Given the description of an element on the screen output the (x, y) to click on. 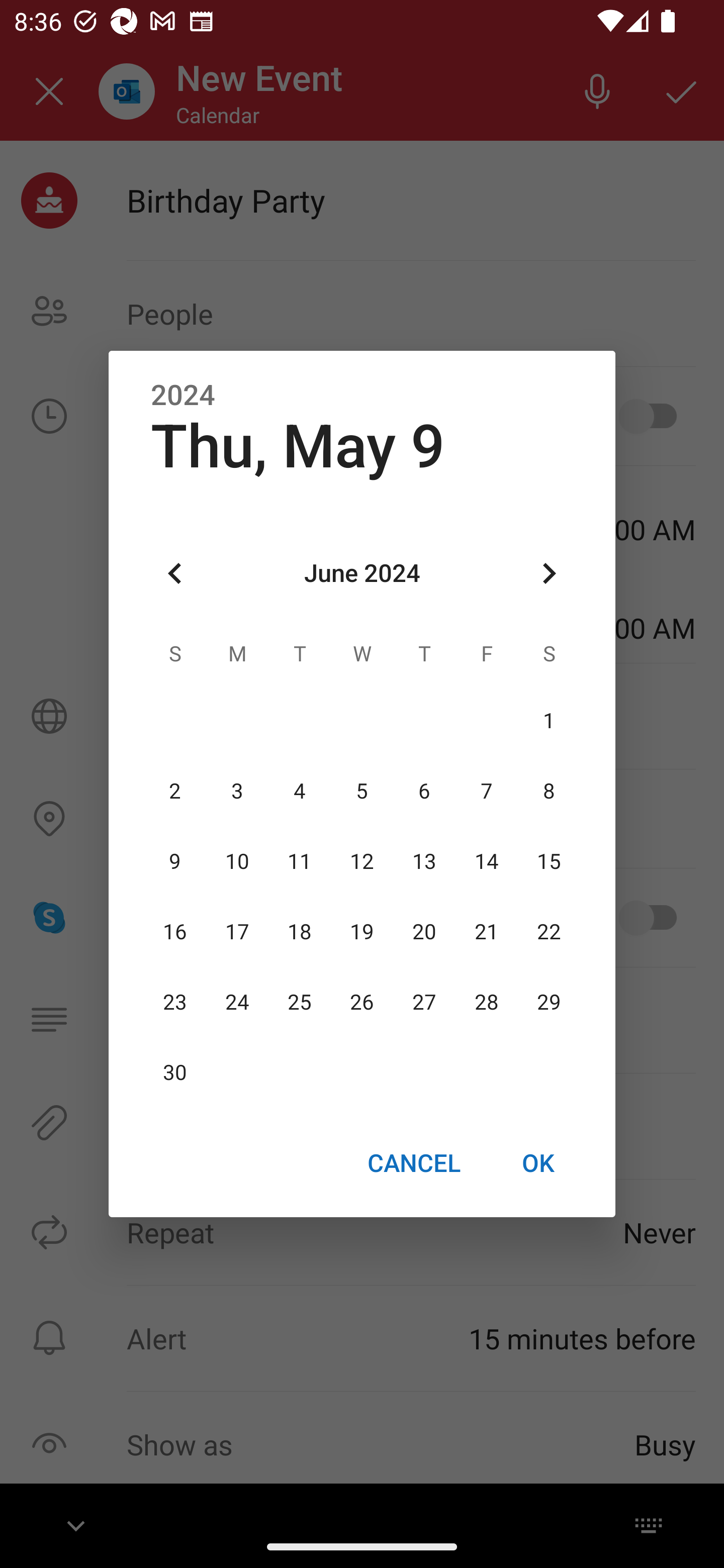
2024 (182, 395)
Thu, May 9 (297, 446)
Previous month (174, 573)
Next month (548, 573)
1 01 June 2024 (548, 720)
2 02 June 2024 (175, 790)
3 03 June 2024 (237, 790)
4 04 June 2024 (299, 790)
5 05 June 2024 (361, 790)
6 06 June 2024 (424, 790)
7 07 June 2024 (486, 790)
8 08 June 2024 (548, 790)
9 09 June 2024 (175, 861)
10 10 June 2024 (237, 861)
11 11 June 2024 (299, 861)
12 12 June 2024 (361, 861)
13 13 June 2024 (424, 861)
14 14 June 2024 (486, 861)
15 15 June 2024 (548, 861)
16 16 June 2024 (175, 931)
17 17 June 2024 (237, 931)
18 18 June 2024 (299, 931)
19 19 June 2024 (361, 931)
20 20 June 2024 (424, 931)
21 21 June 2024 (486, 931)
22 22 June 2024 (548, 931)
23 23 June 2024 (175, 1002)
24 24 June 2024 (237, 1002)
25 25 June 2024 (299, 1002)
26 26 June 2024 (361, 1002)
27 27 June 2024 (424, 1002)
28 28 June 2024 (486, 1002)
29 29 June 2024 (548, 1002)
30 30 June 2024 (175, 1073)
CANCEL (413, 1162)
OK (537, 1162)
